Given the description of an element on the screen output the (x, y) to click on. 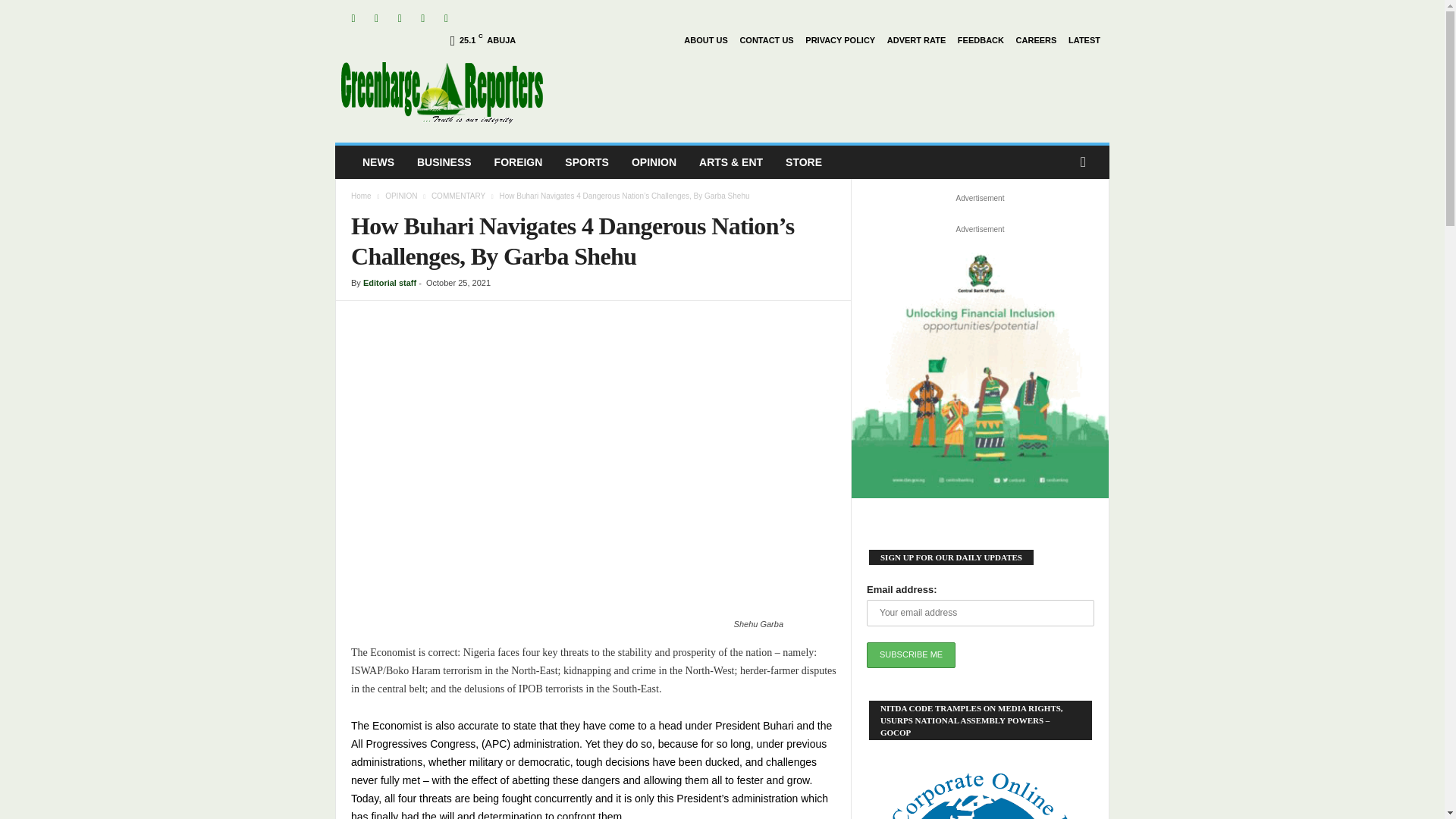
SUBSCRIBE ME (910, 655)
CAREERS (1036, 40)
Greenbarge Reporters (442, 92)
ADVERT RATE (915, 40)
LATEST (1084, 40)
LATEST NEWS (378, 162)
ABOUT US (705, 40)
FEEDBACK (981, 40)
PRIVACY POLICY (840, 40)
View all posts in OPINION (400, 195)
